Given the description of an element on the screen output the (x, y) to click on. 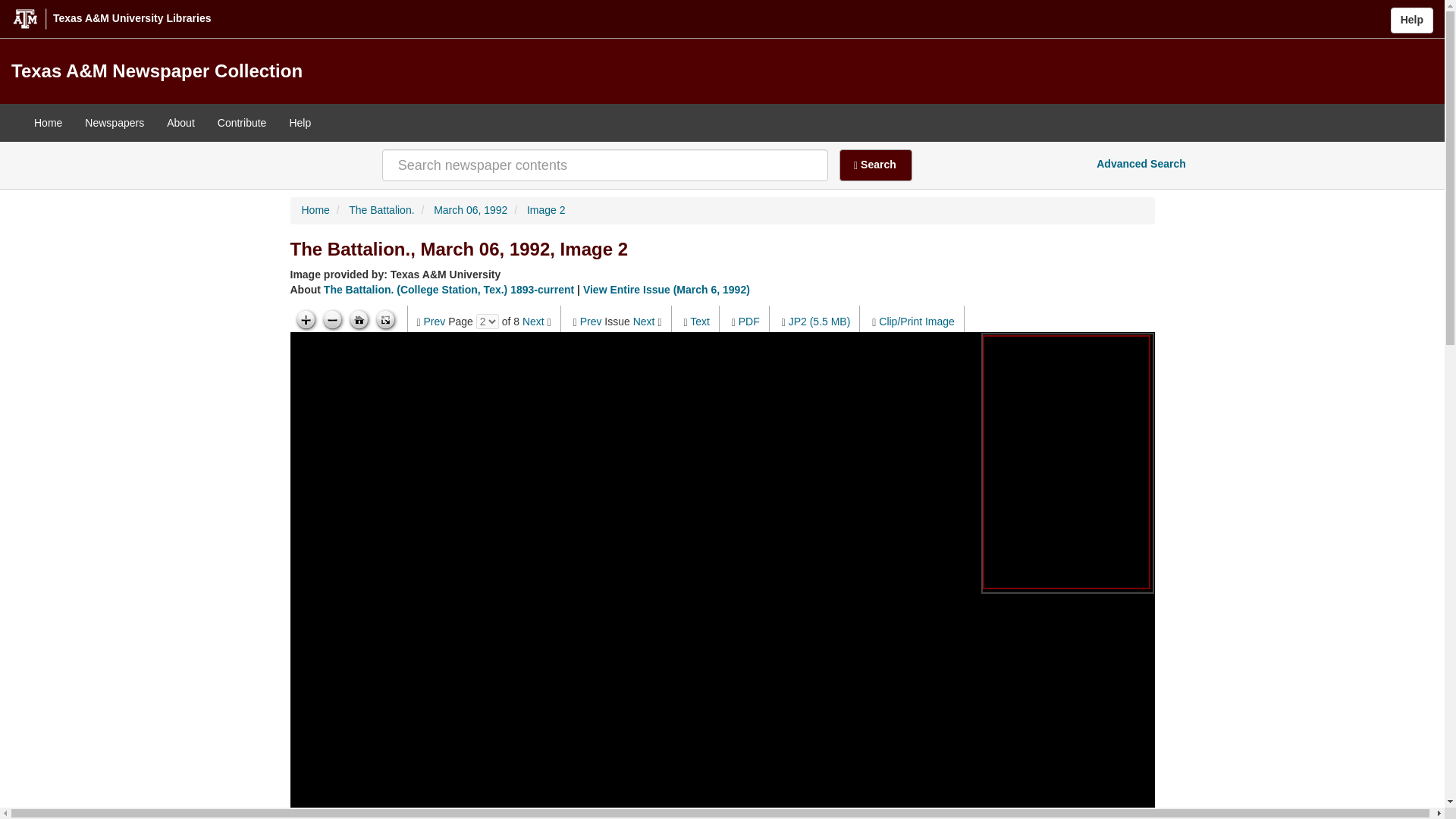
Help (299, 122)
Newspapers (114, 122)
Image 2 (546, 209)
Home (48, 122)
Toggle full page (385, 320)
About (180, 122)
Zoom out (332, 320)
The Battalion. (381, 209)
Next (533, 321)
Contribute (242, 122)
Next (644, 321)
Go home (359, 320)
Help (1411, 20)
Zoom in (305, 320)
Text (700, 321)
